Given the description of an element on the screen output the (x, y) to click on. 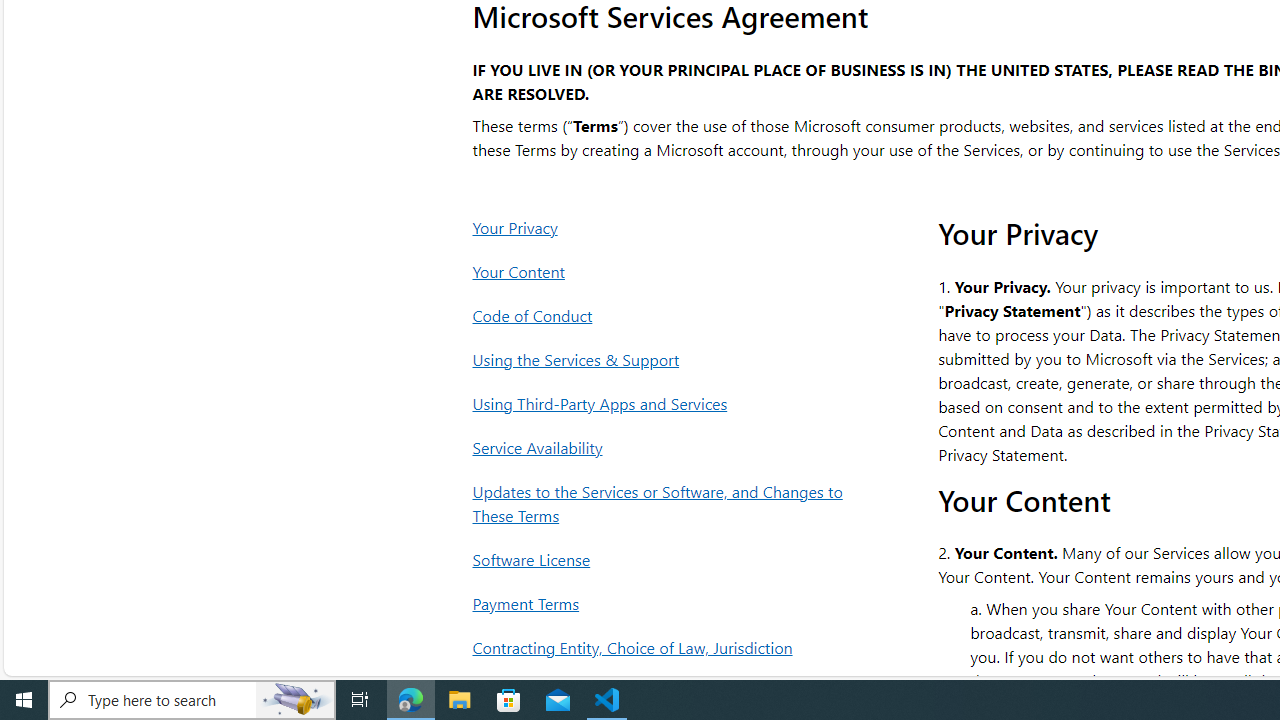
Payment Terms (663, 603)
Contracting Entity, Choice of Law, Jurisdiction (663, 647)
Your Privacy (663, 227)
Using Third-Party Apps and Services (663, 403)
Your Content (663, 271)
Code of Conduct (663, 315)
Software License (663, 559)
Service Availability (663, 447)
Using the Services & Support (663, 359)
